Given the description of an element on the screen output the (x, y) to click on. 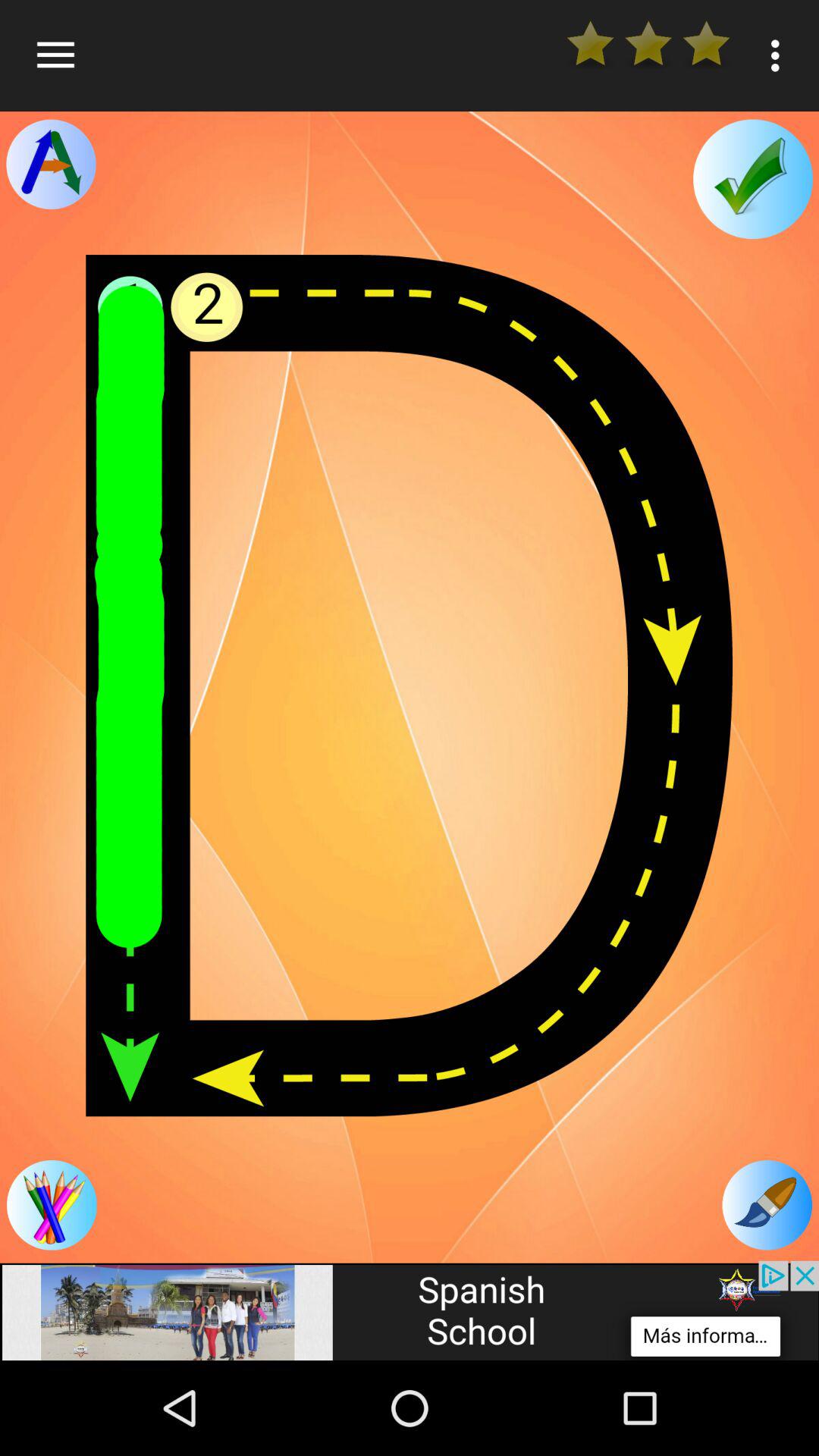
toggle pen mode (767, 1205)
